Given the description of an element on the screen output the (x, y) to click on. 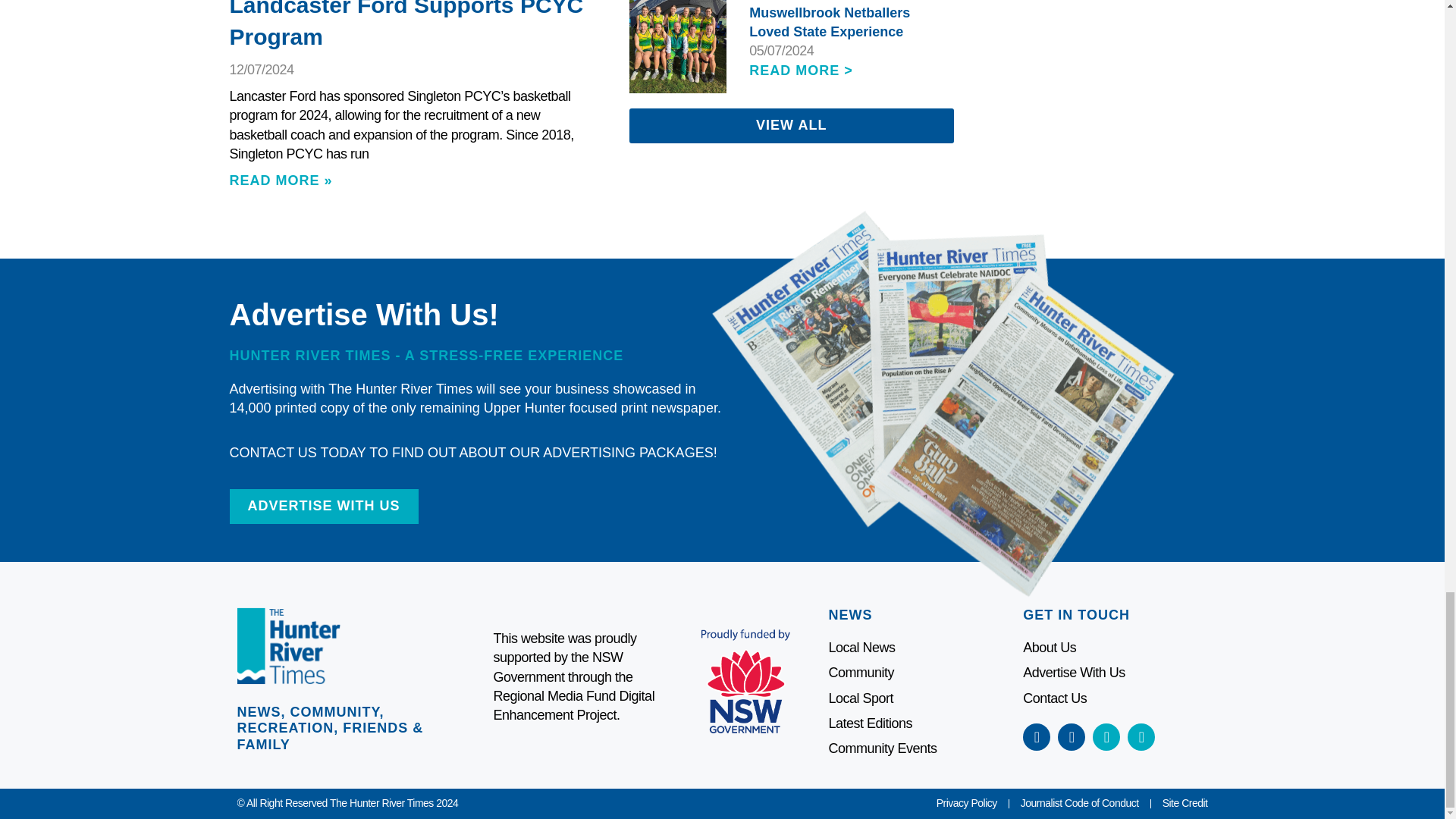
Home 12 (677, 46)
